Given the description of an element on the screen output the (x, y) to click on. 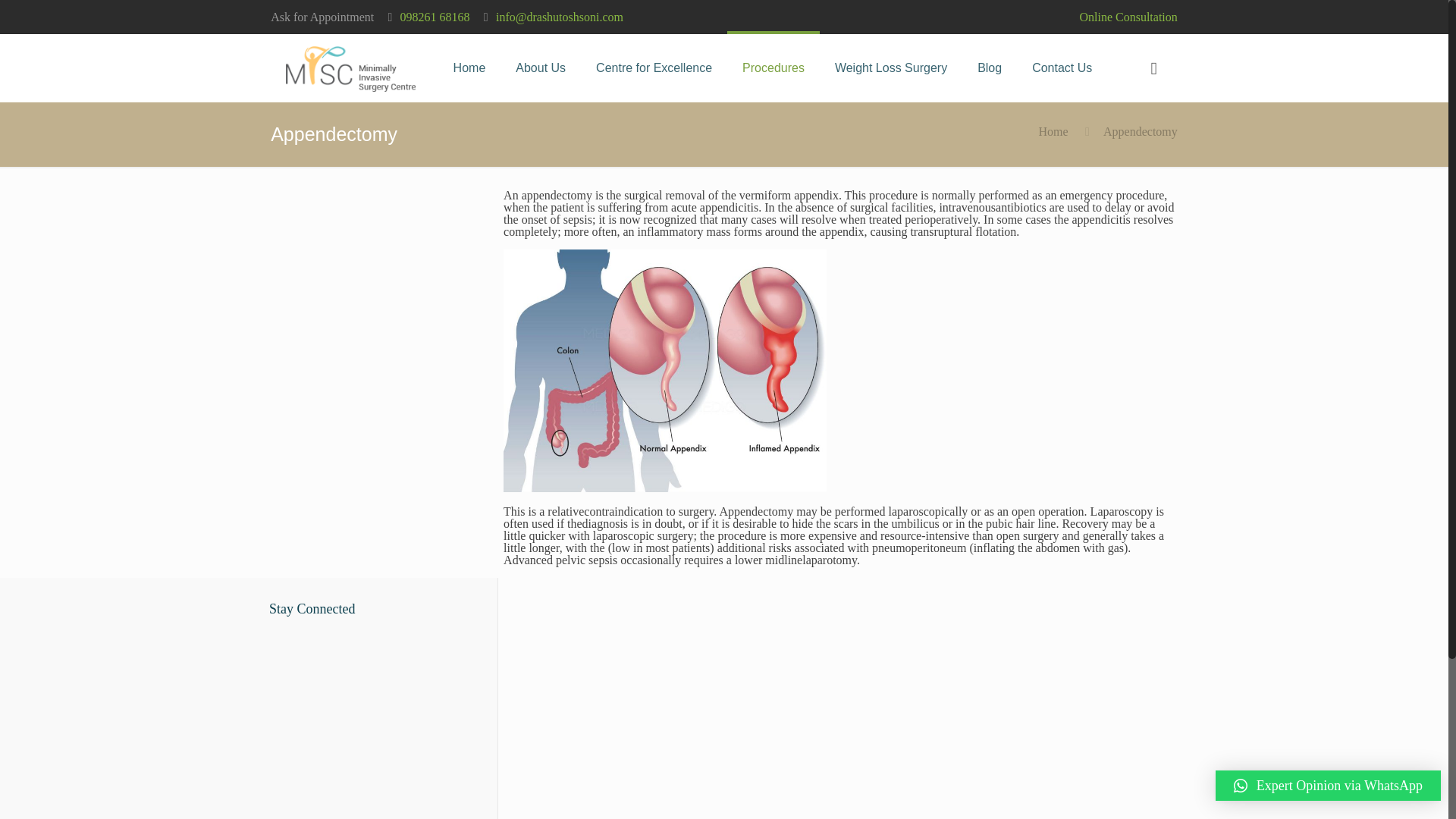
Centre for Excellence (653, 68)
Dr Ashutosh Soni (349, 68)
About Us (540, 68)
Home (469, 68)
Procedures (772, 68)
098261 68168 (435, 16)
Online Consultation (1127, 16)
